Given the description of an element on the screen output the (x, y) to click on. 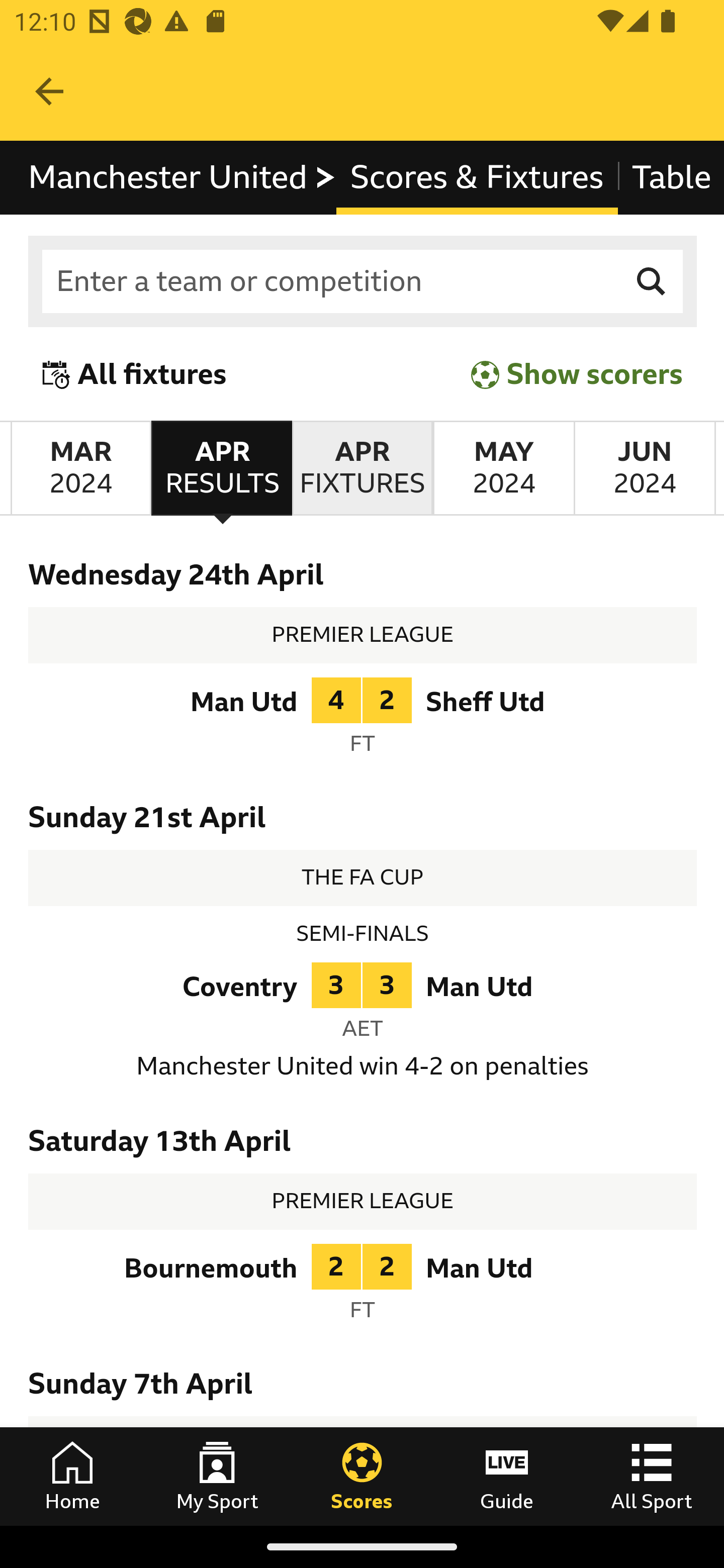
Navigate up (49, 91)
Manchester United  (183, 177)
Scores & Fixtures (476, 177)
Table (670, 177)
Search (651, 282)
All fixtures (134, 374)
Show scorers (576, 374)
March2024 March 2024 (80, 468)
AprilRESULTS, Selected April RESULTS , Selected (221, 468)
AprilFIXTURES April FIXTURES (361, 468)
May2024 May 2024 (502, 468)
June2024 June 2024 (644, 468)
Home (72, 1475)
My Sport (216, 1475)
Guide (506, 1475)
All Sport (651, 1475)
